Given the description of an element on the screen output the (x, y) to click on. 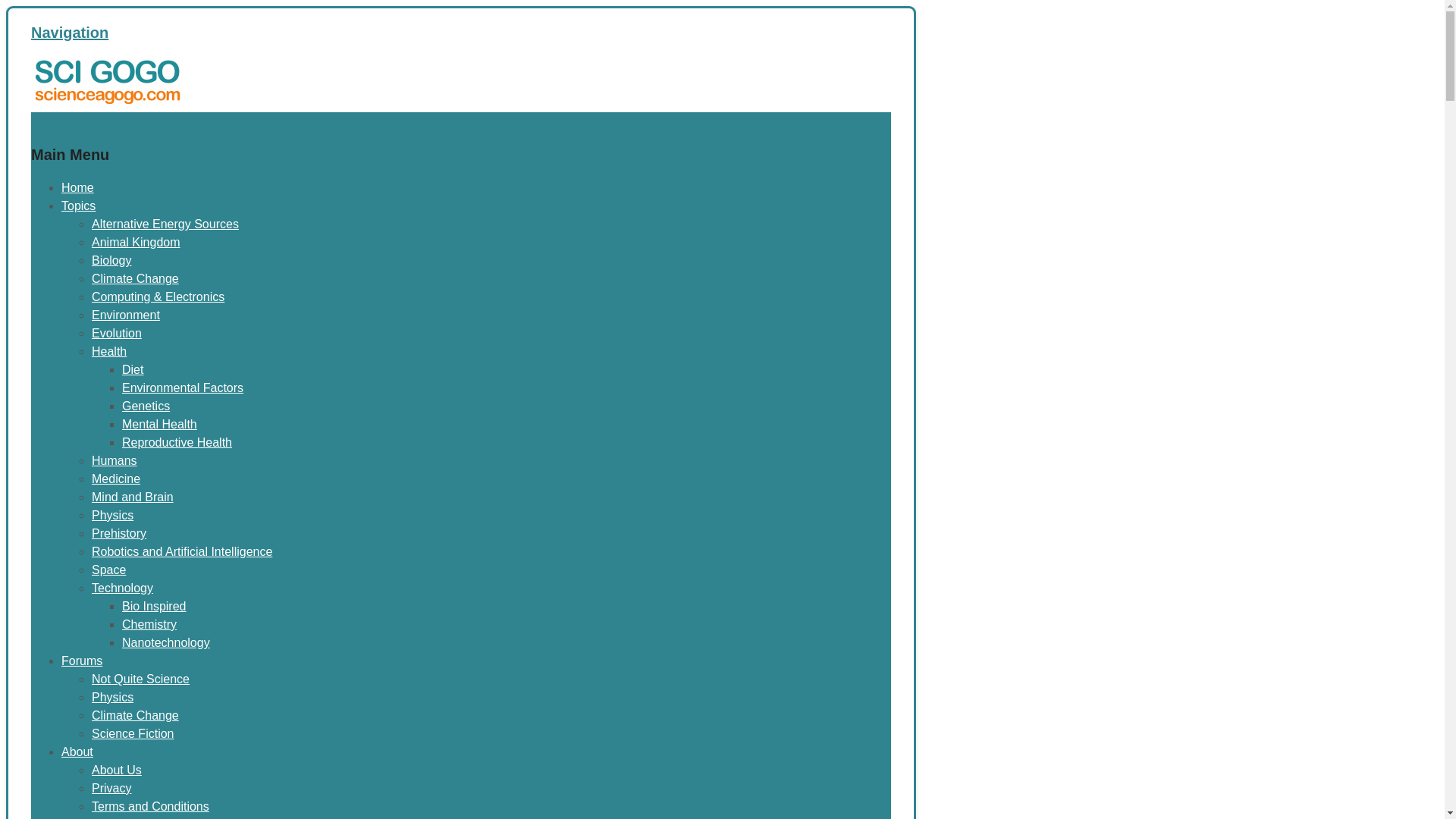
Climate Change (135, 715)
Navigation (68, 32)
Robotics and Artificial Intelligence (181, 551)
Mind and Brain (132, 496)
Humans (113, 460)
Biology (111, 259)
Prehistory (119, 533)
Topics (78, 205)
Not Quite Science (140, 678)
Technology (121, 587)
